Given the description of an element on the screen output the (x, y) to click on. 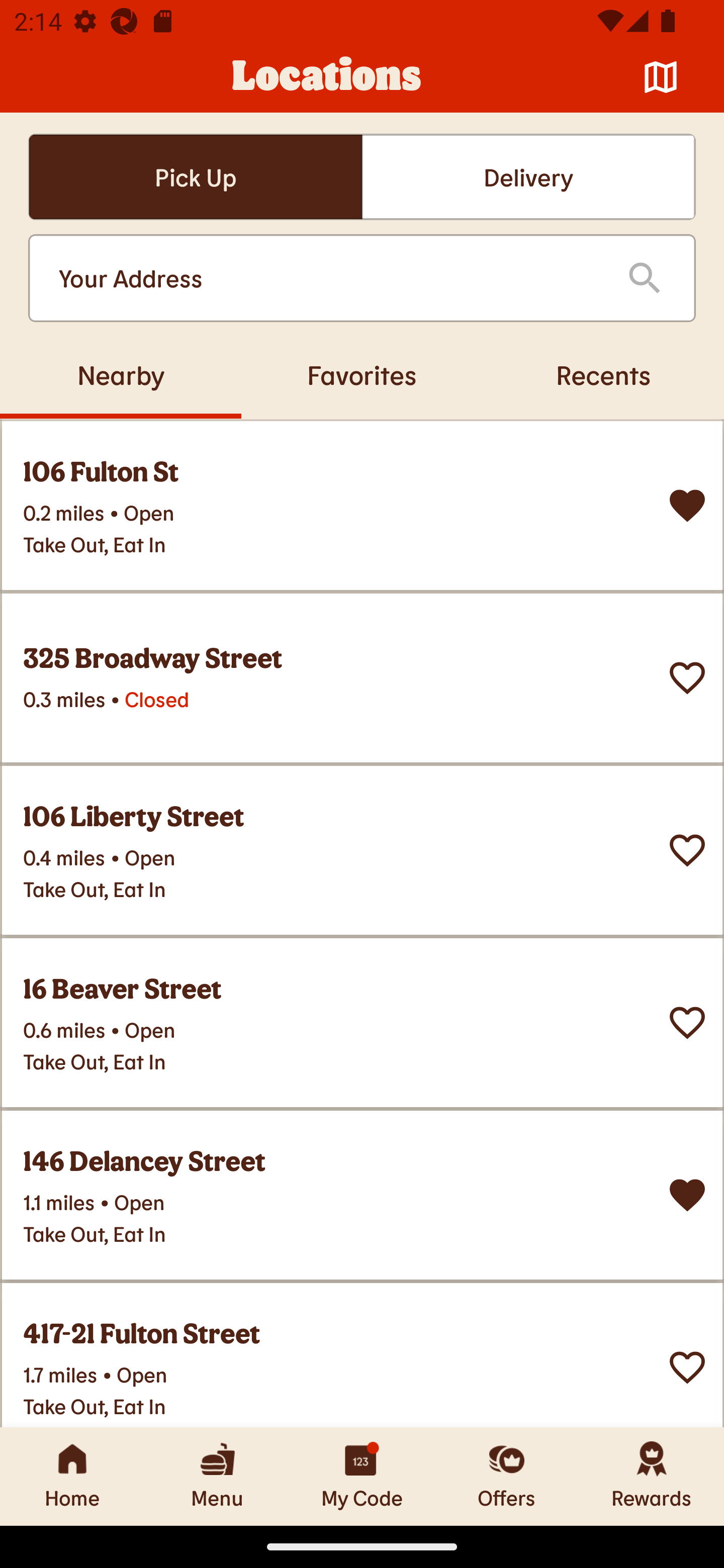
Map 󰦂 (660, 77)
Locations (326, 77)
Pick UpSelected Pick UpSelected Pick Up (195, 176)
Delivery Delivery Delivery (528, 176)
Your Address (327, 277)
Nearby (120, 374)
Favorites (361, 374)
Recents (603, 374)
Remove from Favorites?  (687, 505)
Set this restaurant as a favorite  (687, 677)
Set this restaurant as a favorite  (687, 850)
Set this restaurant as a favorite  (687, 1022)
Remove from Favorites?  (687, 1195)
Set this restaurant as a favorite  (687, 1367)
Home (72, 1475)
Menu (216, 1475)
My Code (361, 1475)
Offers (506, 1475)
Rewards (651, 1475)
